Given the description of an element on the screen output the (x, y) to click on. 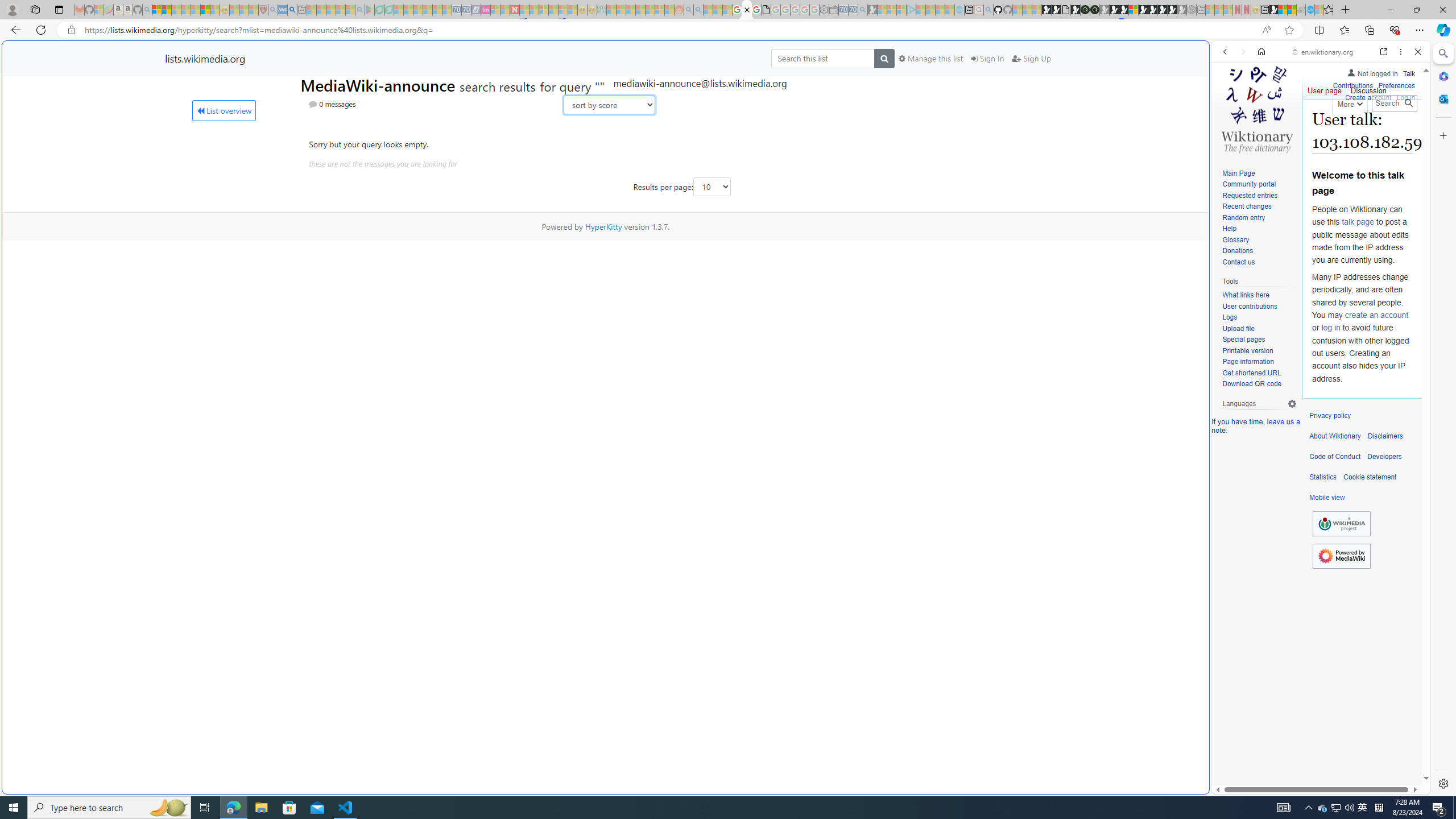
Main Page (1238, 172)
log in (1330, 327)
Talk (1408, 73)
If you have time, leave us a note. (1255, 425)
